Given the description of an element on the screen output the (x, y) to click on. 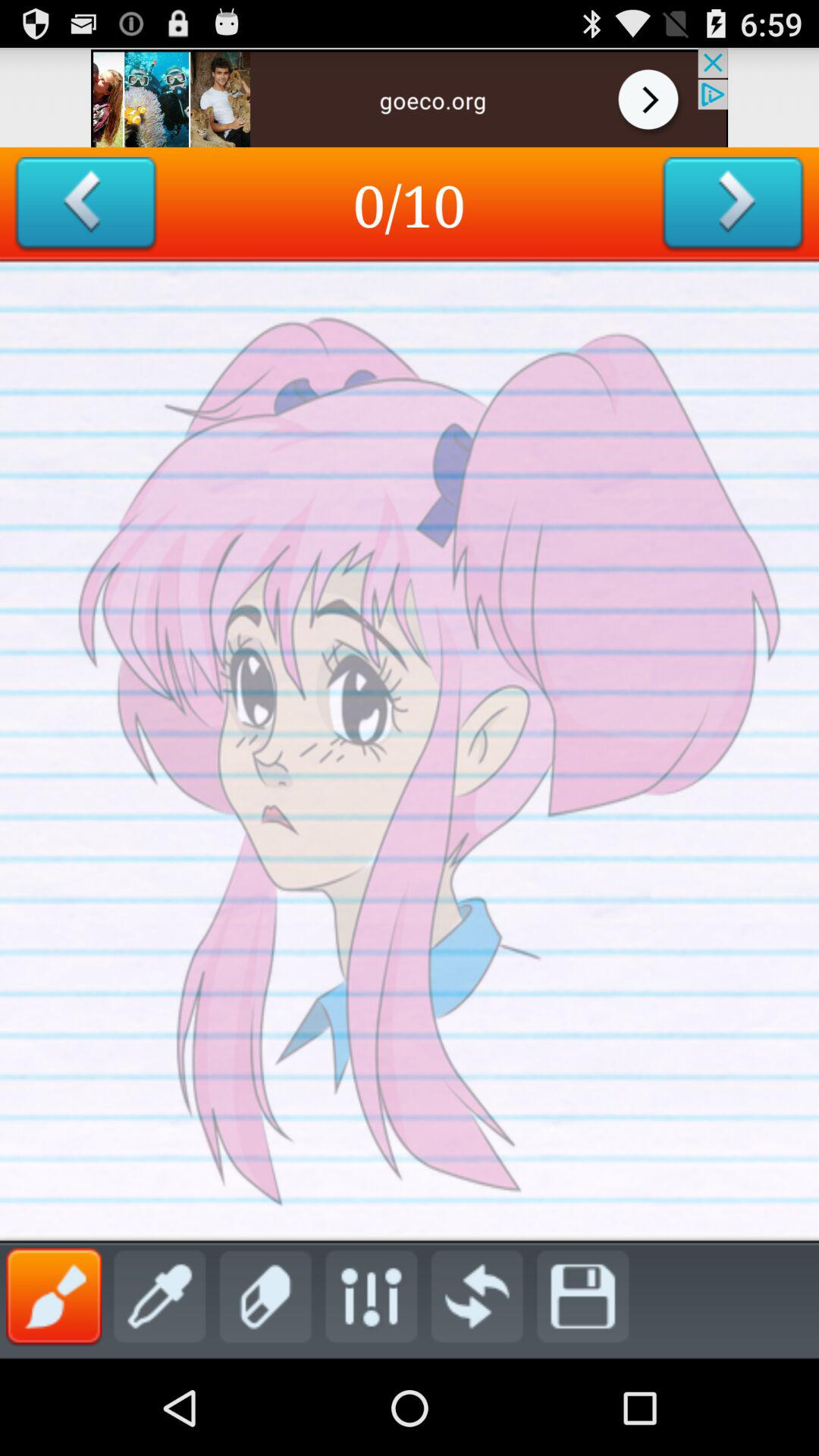
swith to next (732, 204)
